Given the description of an element on the screen output the (x, y) to click on. 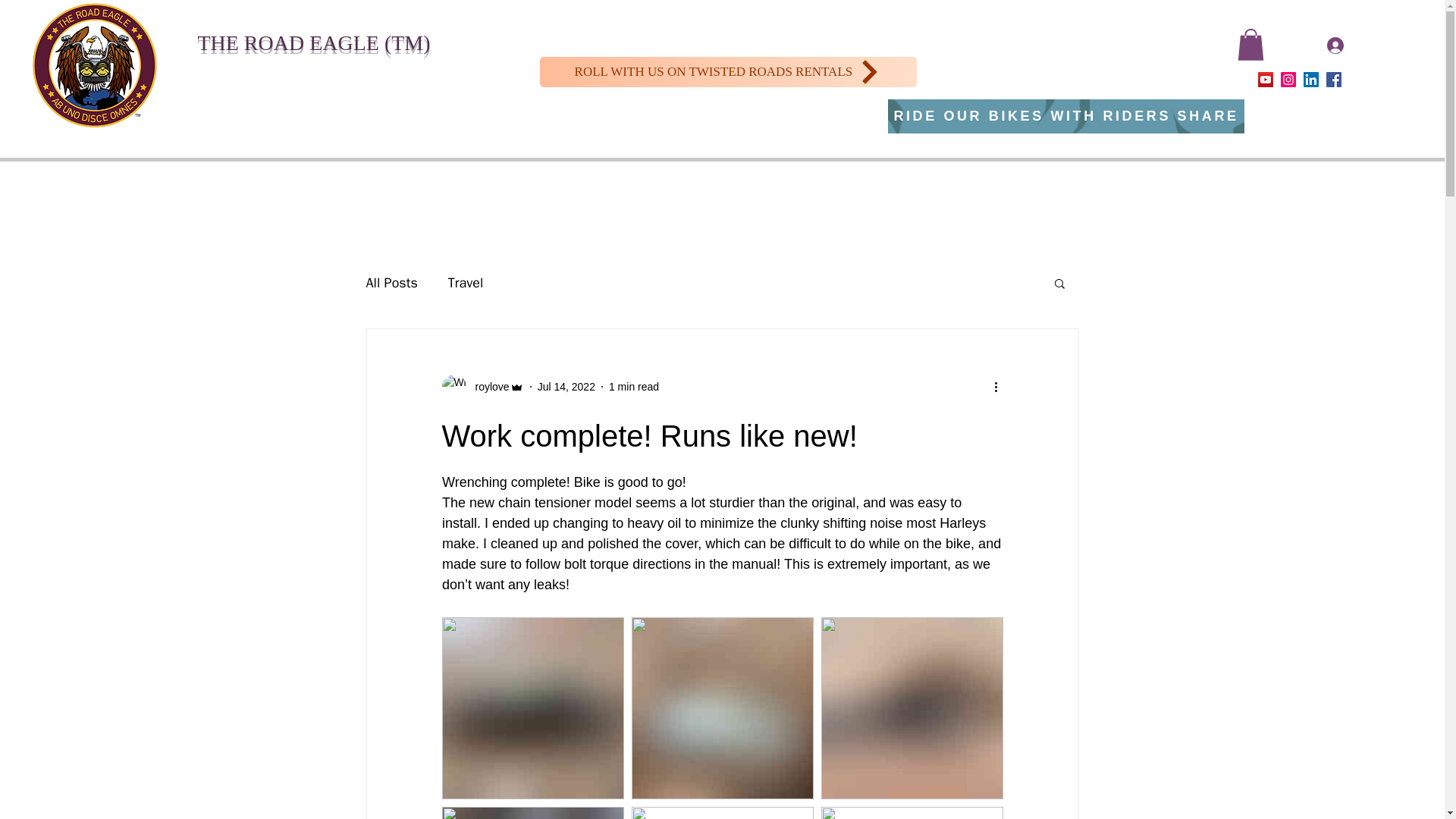
Jul 14, 2022 (566, 386)
roylove (486, 386)
Home (1146, 78)
roylove (481, 386)
Log In (1355, 44)
ROLL WITH US ON TWISTED ROADS RENTALS (728, 71)
Travel (465, 282)
1 min read (633, 386)
All Posts (390, 282)
About (1190, 78)
RIDE OUR BIKES WITH RIDERS SHARE (1066, 116)
